Given the description of an element on the screen output the (x, y) to click on. 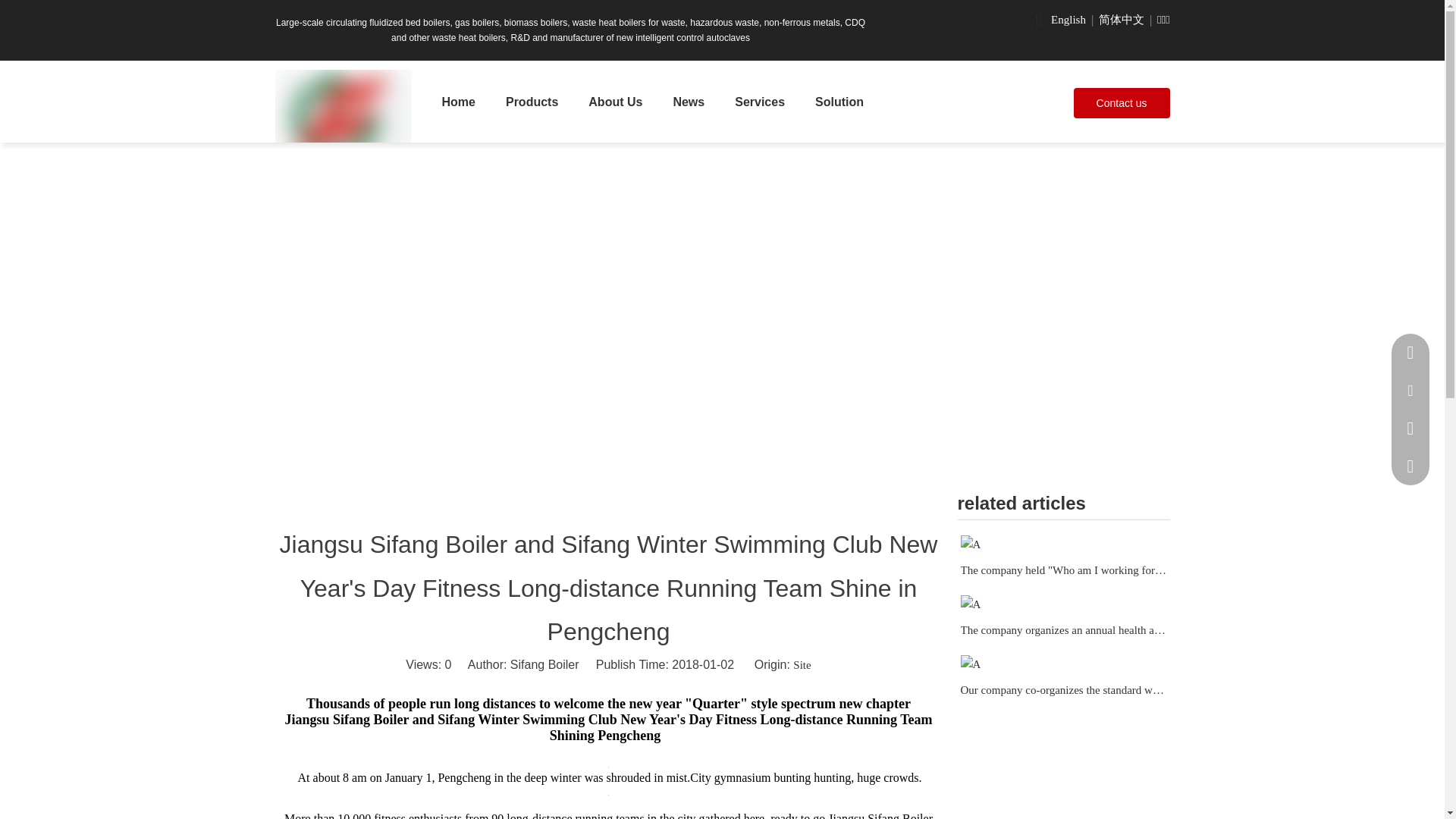
Services (759, 102)
Home (457, 102)
About Us (615, 102)
English (1068, 20)
News (688, 102)
Products (531, 102)
Solution (839, 102)
Contact us (1122, 102)
